Given the description of an element on the screen output the (x, y) to click on. 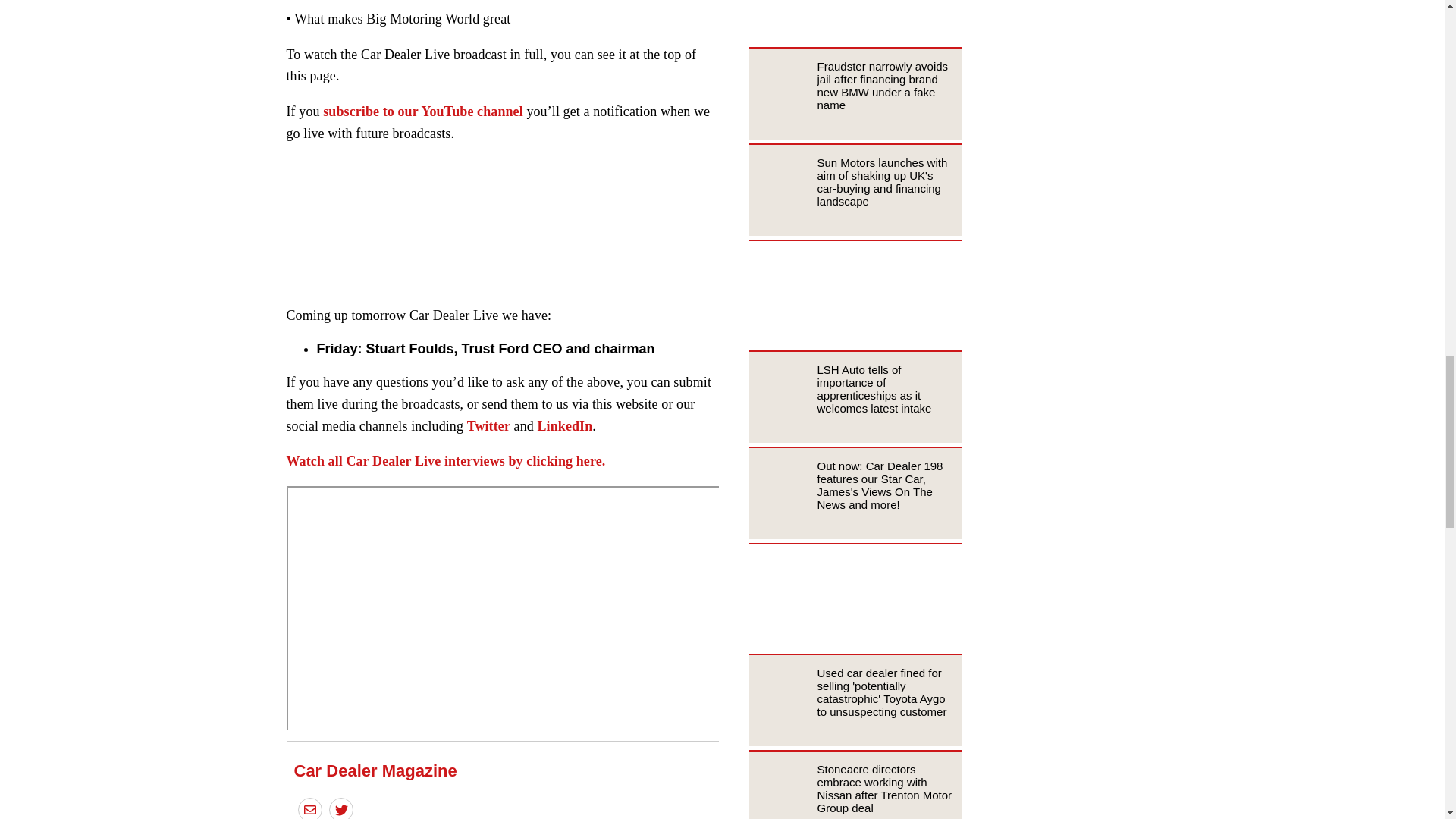
Twitter (489, 426)
LinkedIn (564, 426)
Car Dealer Magazine (375, 770)
Posts by Car Dealer Magazine (375, 770)
subscribe to our YouTube channel (422, 111)
Watch all Car Dealer Live interviews by clicking here. (445, 460)
